Given the description of an element on the screen output the (x, y) to click on. 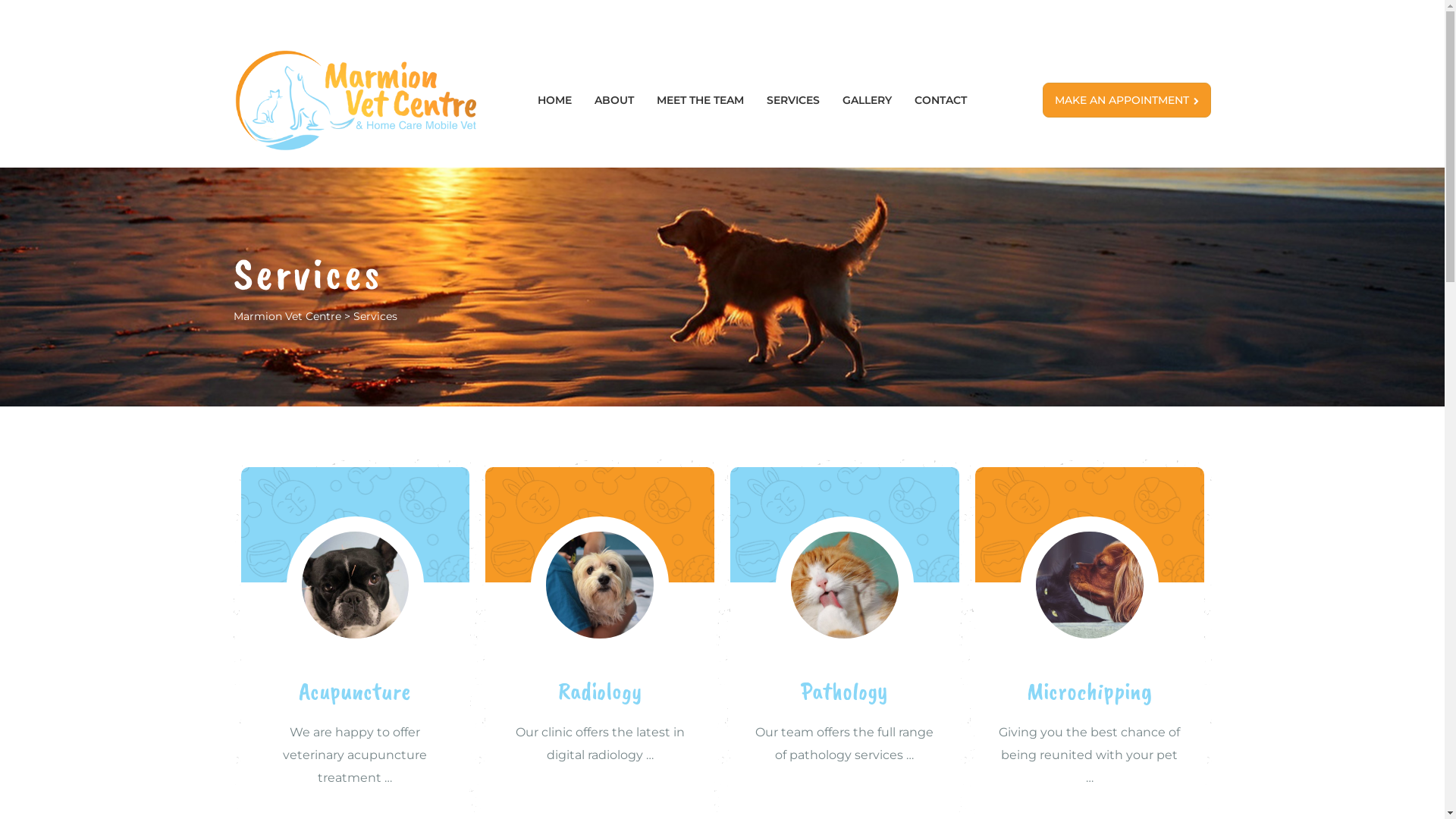
CONTACT Element type: text (940, 100)
Marmion Vet Centre Element type: text (287, 316)
Acupuncture Element type: text (354, 690)
Pathology Element type: text (844, 690)
HOME Element type: text (554, 100)
ABOUT Element type: text (613, 100)
GALLERY Element type: text (866, 100)
Radiology Element type: text (600, 690)
MEET THE TEAM Element type: text (699, 100)
Microchipping Element type: text (1089, 690)
SERVICES Element type: text (792, 100)
MAKE AN APPOINTMENT Element type: text (1126, 99)
